Given the description of an element on the screen output the (x, y) to click on. 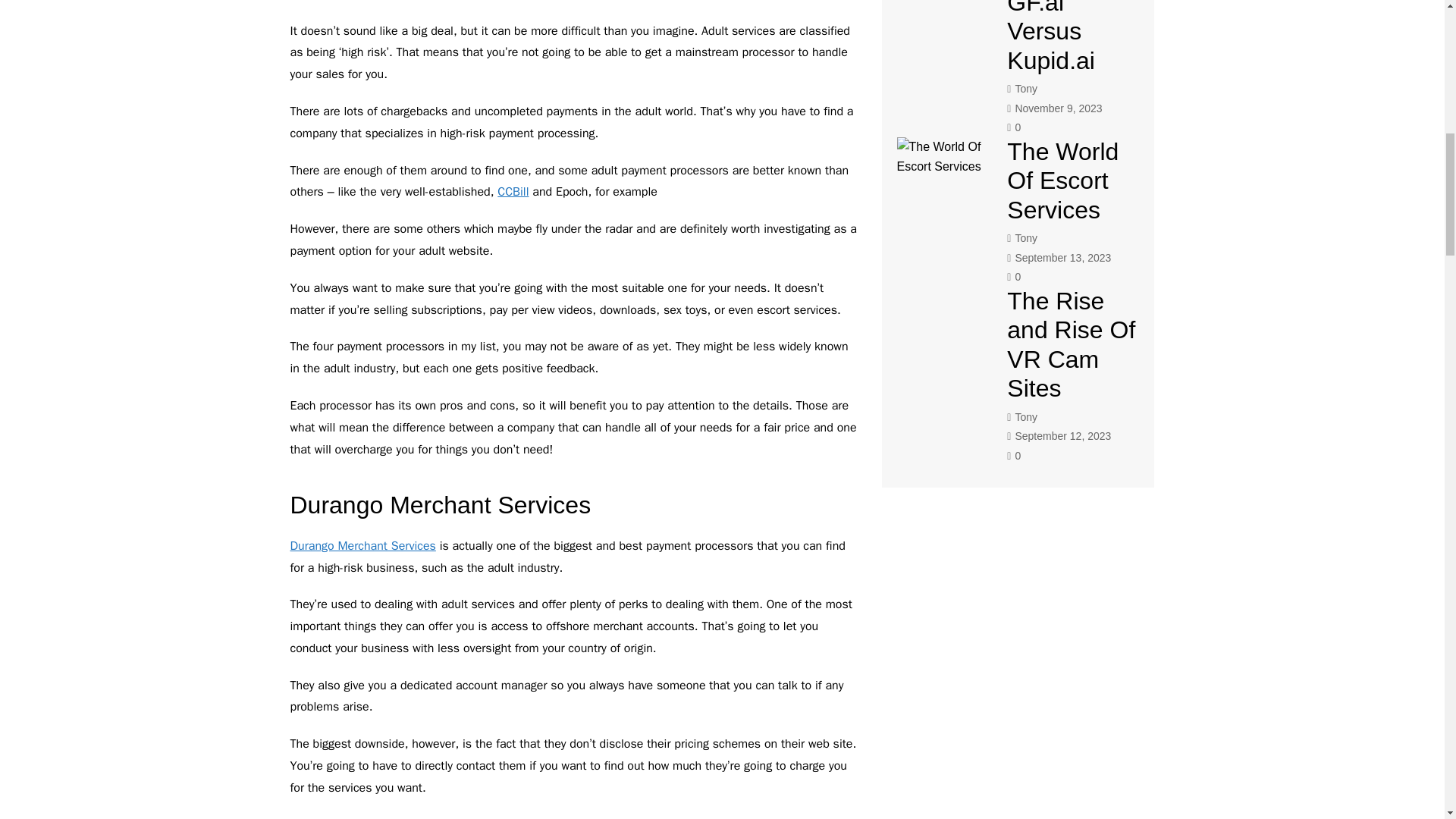
CCBill (512, 191)
Durango Merchant Services (362, 545)
